Given the description of an element on the screen output the (x, y) to click on. 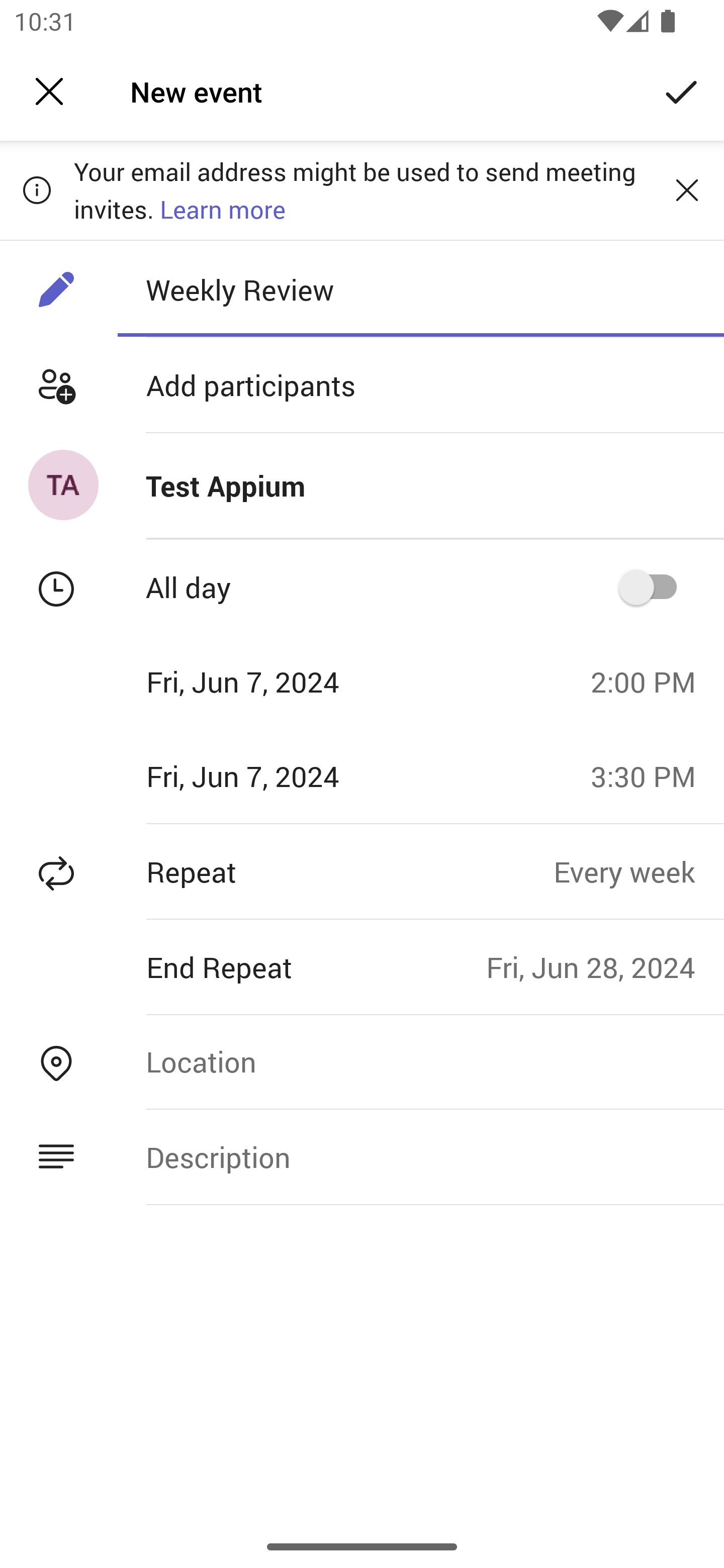
Back (49, 91)
Send invite (681, 90)
Dismiss banner (687, 189)
Weekly Review (420, 289)
Add participants Add participants option (362, 384)
All day (654, 586)
Fri, Jun 7, 2024 Starts Friday Jun 07, 2024 (288, 681)
2:00 PM Start time 2:00 PM (650, 681)
Fri, Jun 7, 2024 Ends Friday Jun 07, 2024 (288, 776)
3:30 PM End time 3:30 PM (650, 776)
Repeat (276, 871)
Every week Repeat Every week (638, 871)
End Repeat (243, 967)
Fri, Jun 28, 2024 End repeat Friday Jun 28, 2024 (605, 967)
Location (420, 1061)
Description (420, 1157)
